Given the description of an element on the screen output the (x, y) to click on. 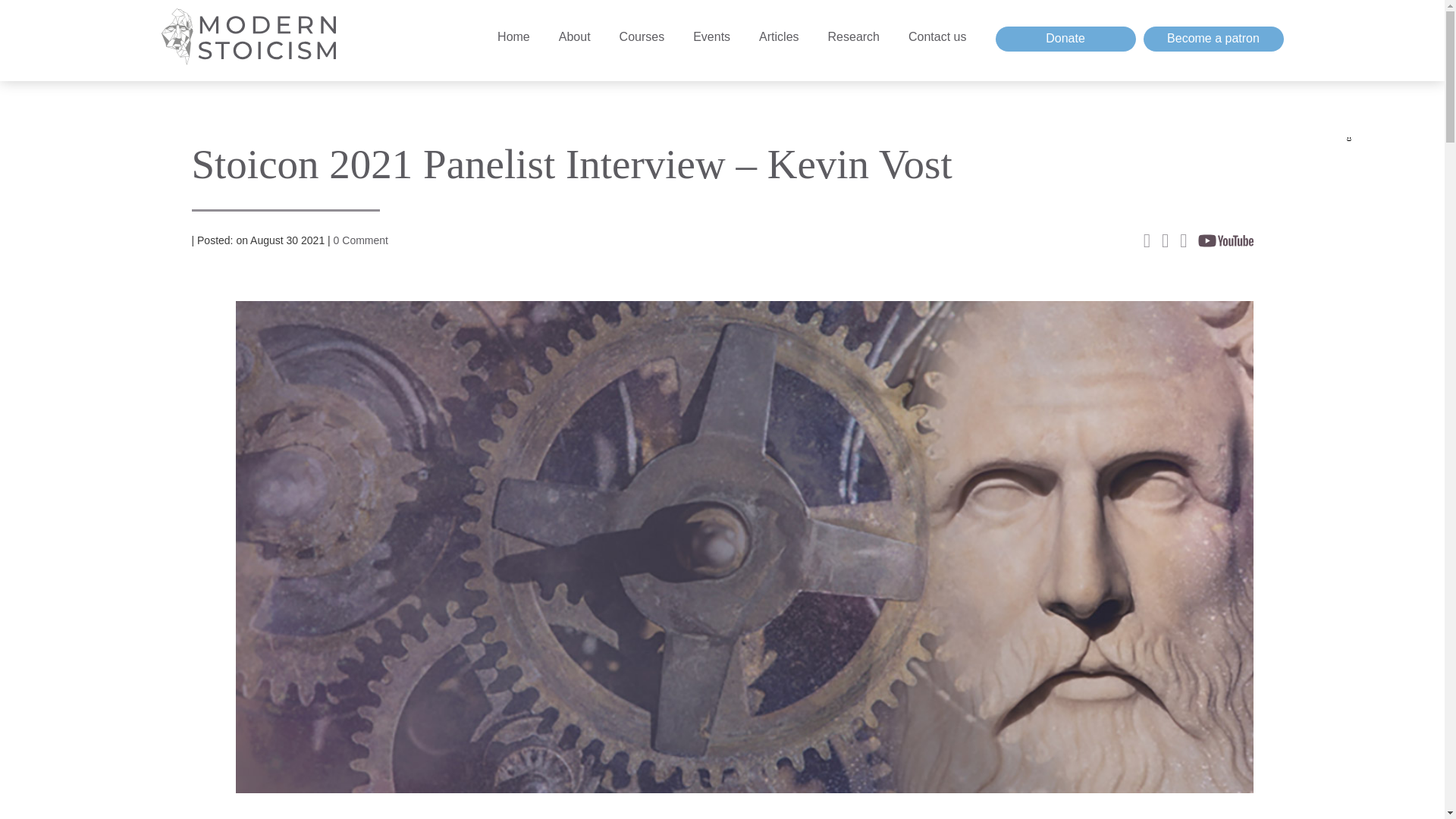
Home (513, 36)
Become a patron (1213, 38)
Donate (1064, 38)
Contact us (937, 56)
Research (853, 36)
